Given the description of an element on the screen output the (x, y) to click on. 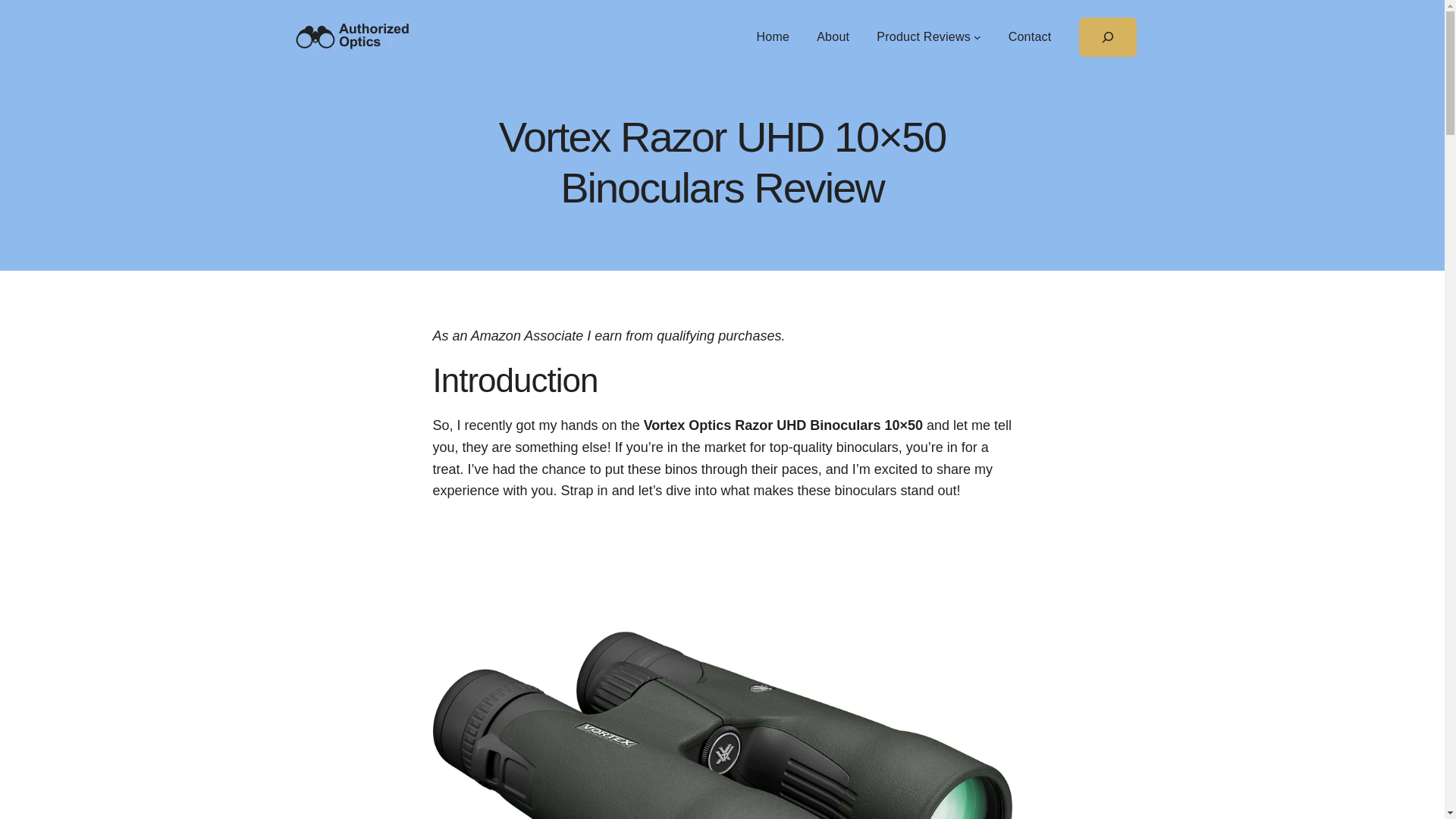
Contact (1030, 36)
About (832, 36)
Product Reviews (923, 36)
Home (773, 36)
